Given the description of an element on the screen output the (x, y) to click on. 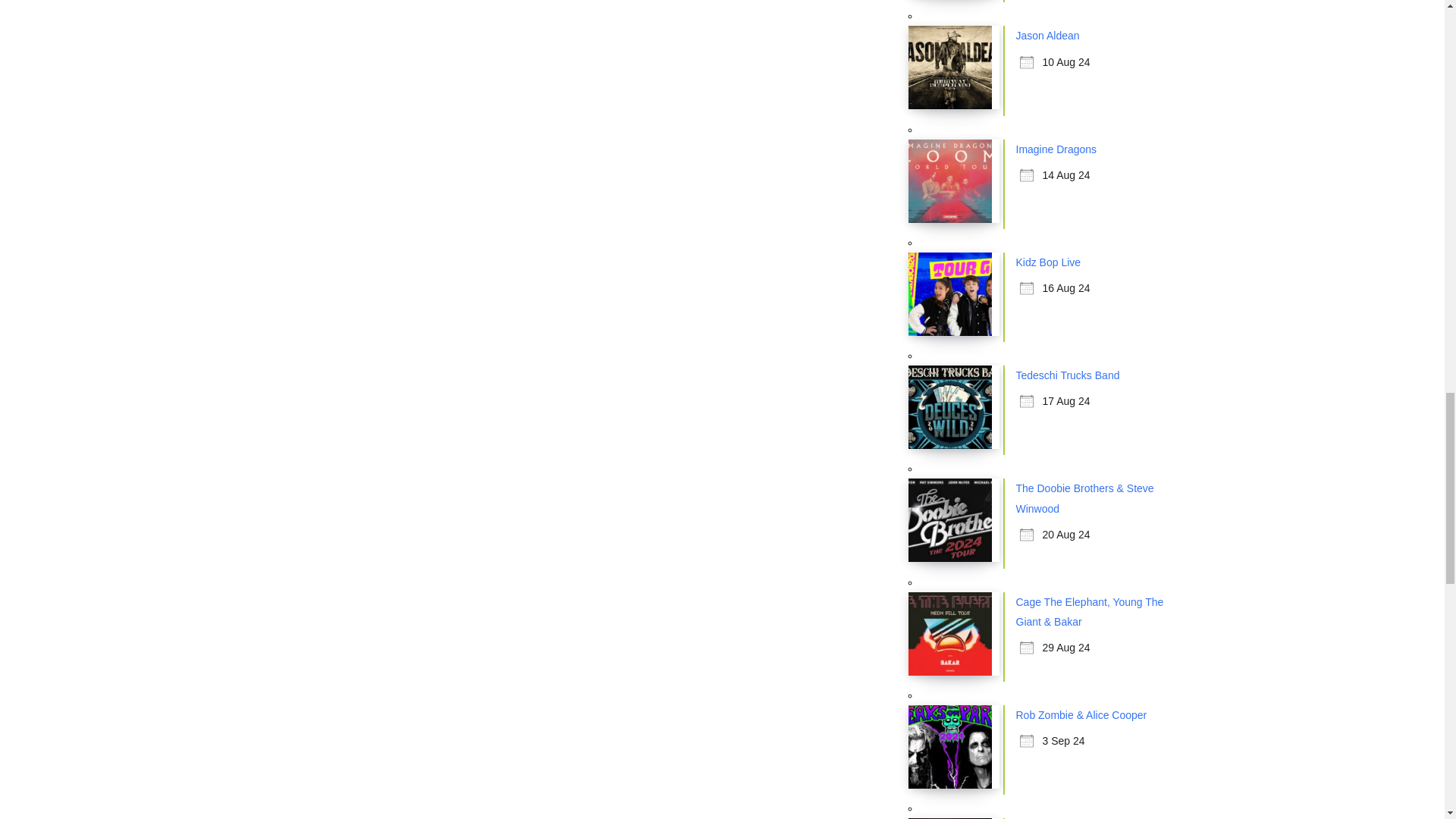
Tedeschi Trucks Band (1067, 375)
Imagine Dragons (1056, 149)
Jason Aldean (1048, 35)
Kidz Bop Live (1048, 262)
